Given the description of an element on the screen output the (x, y) to click on. 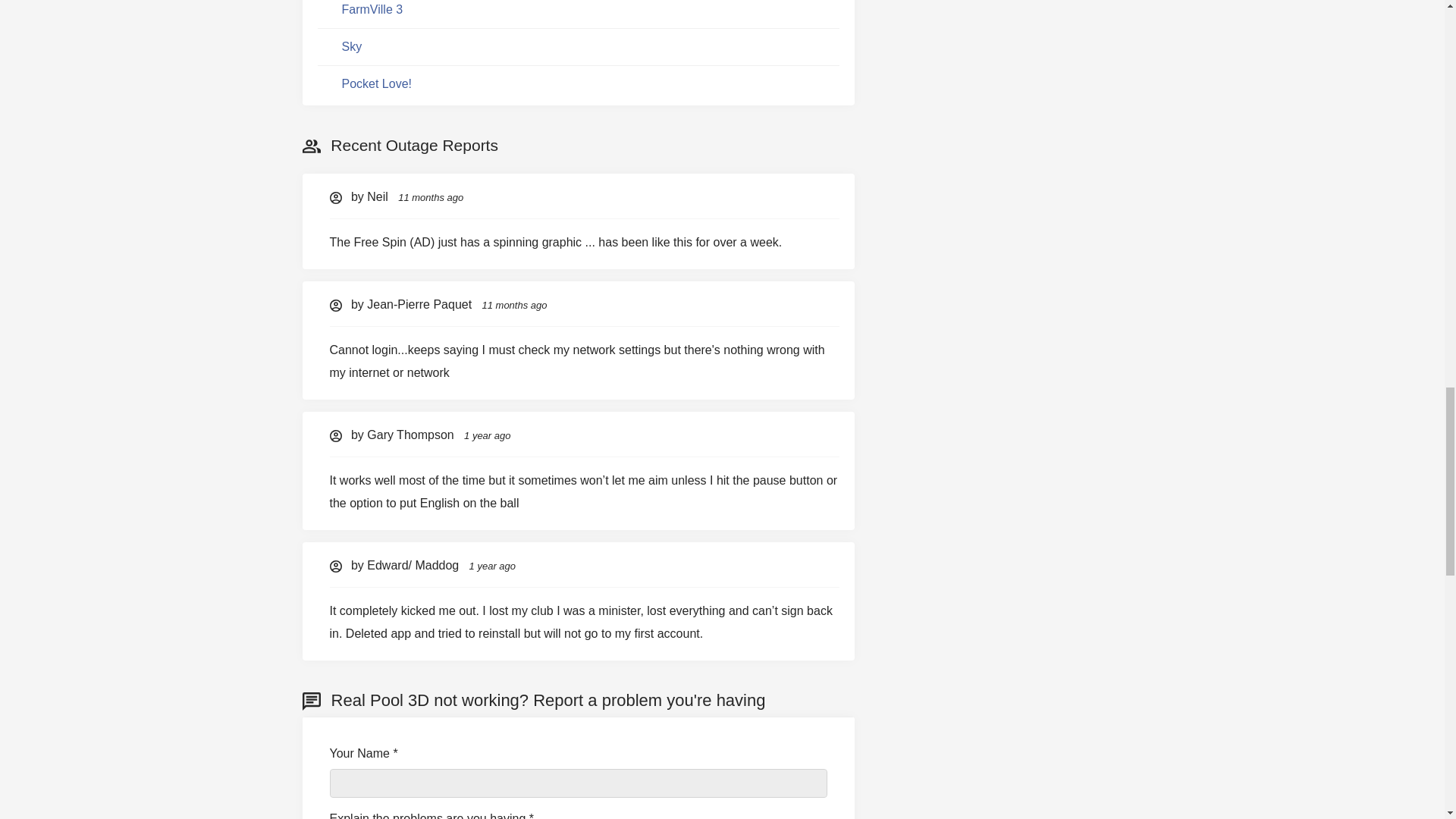
Pocket Love! (376, 84)
Sky: Children of the Light (350, 46)
FarmVille 3 - Animals (371, 9)
Pocket Love! (376, 83)
FarmVille 3 (371, 9)
Sky (350, 46)
